Given the description of an element on the screen output the (x, y) to click on. 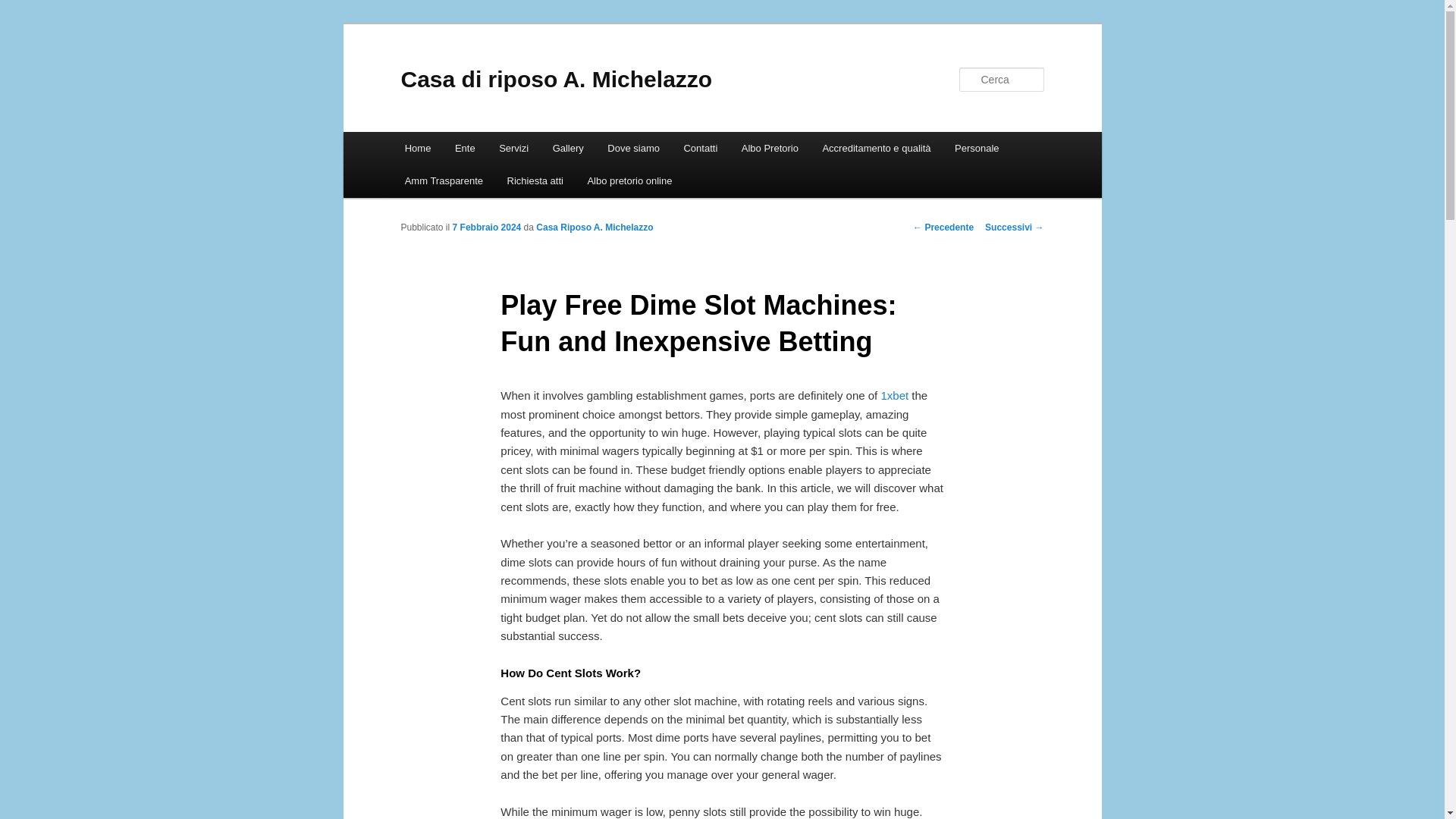
Gallery (567, 147)
Home (417, 147)
Servizi (513, 147)
Ente (464, 147)
23:56 (486, 226)
7 Febbraio 2024 (486, 226)
Personale (976, 147)
Albo Pretorio (769, 147)
Richiesta atti (535, 180)
